Given the description of an element on the screen output the (x, y) to click on. 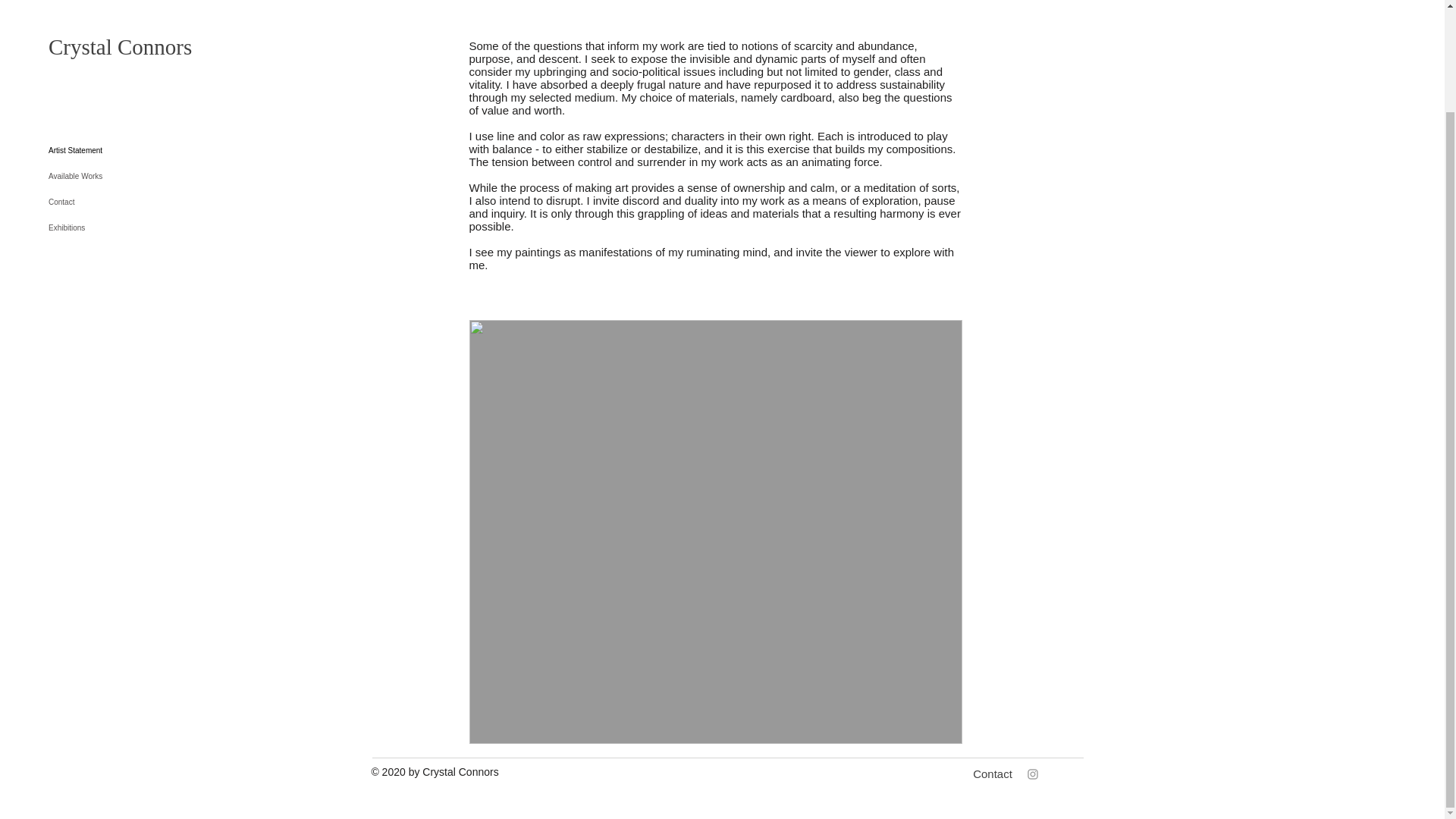
Artist Statement (101, 31)
Available Works (101, 57)
Contact (101, 83)
Exhibitions (101, 109)
Contact (992, 773)
